Given the description of an element on the screen output the (x, y) to click on. 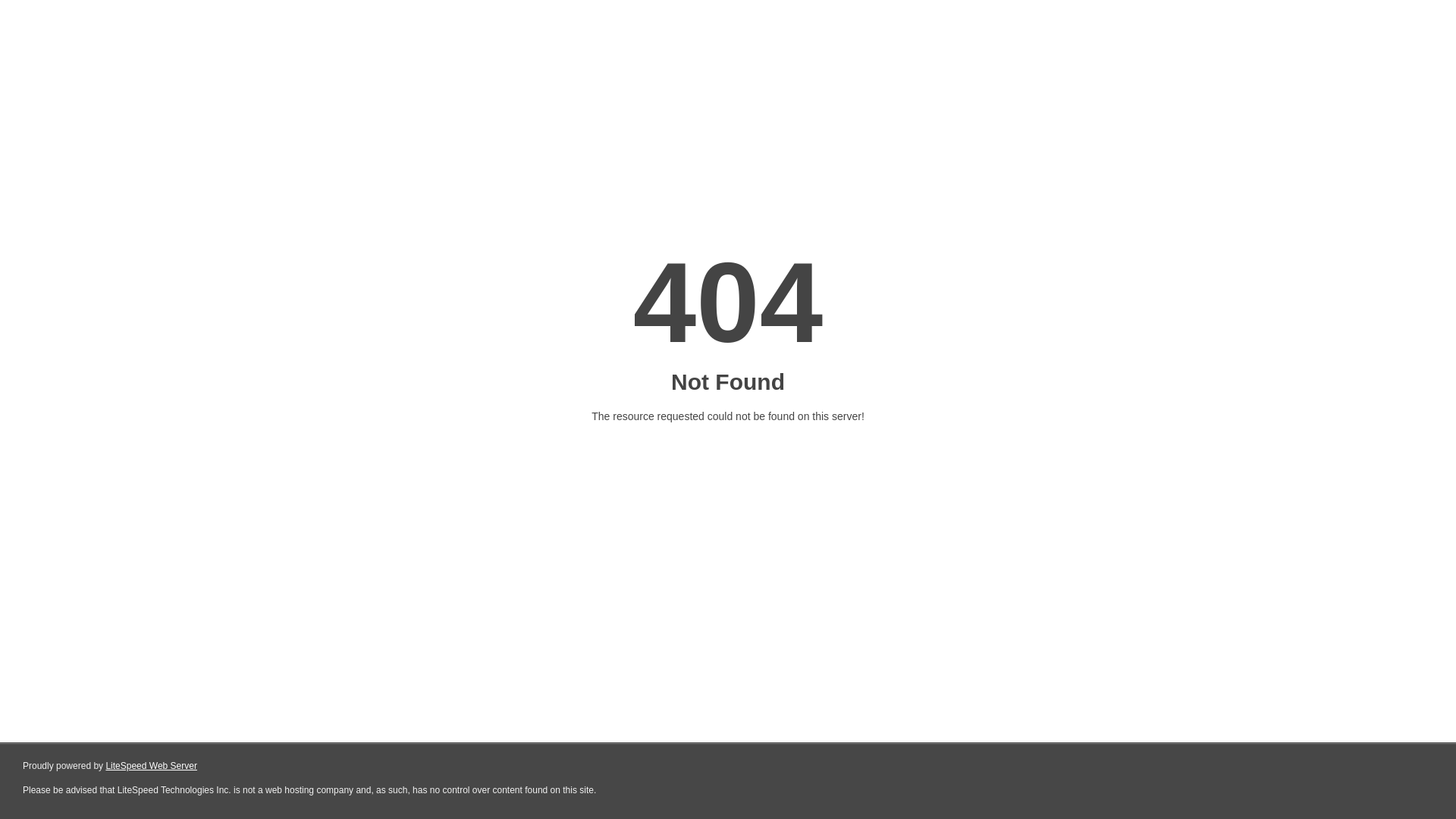
LiteSpeed Web Server Element type: text (151, 765)
